Given the description of an element on the screen output the (x, y) to click on. 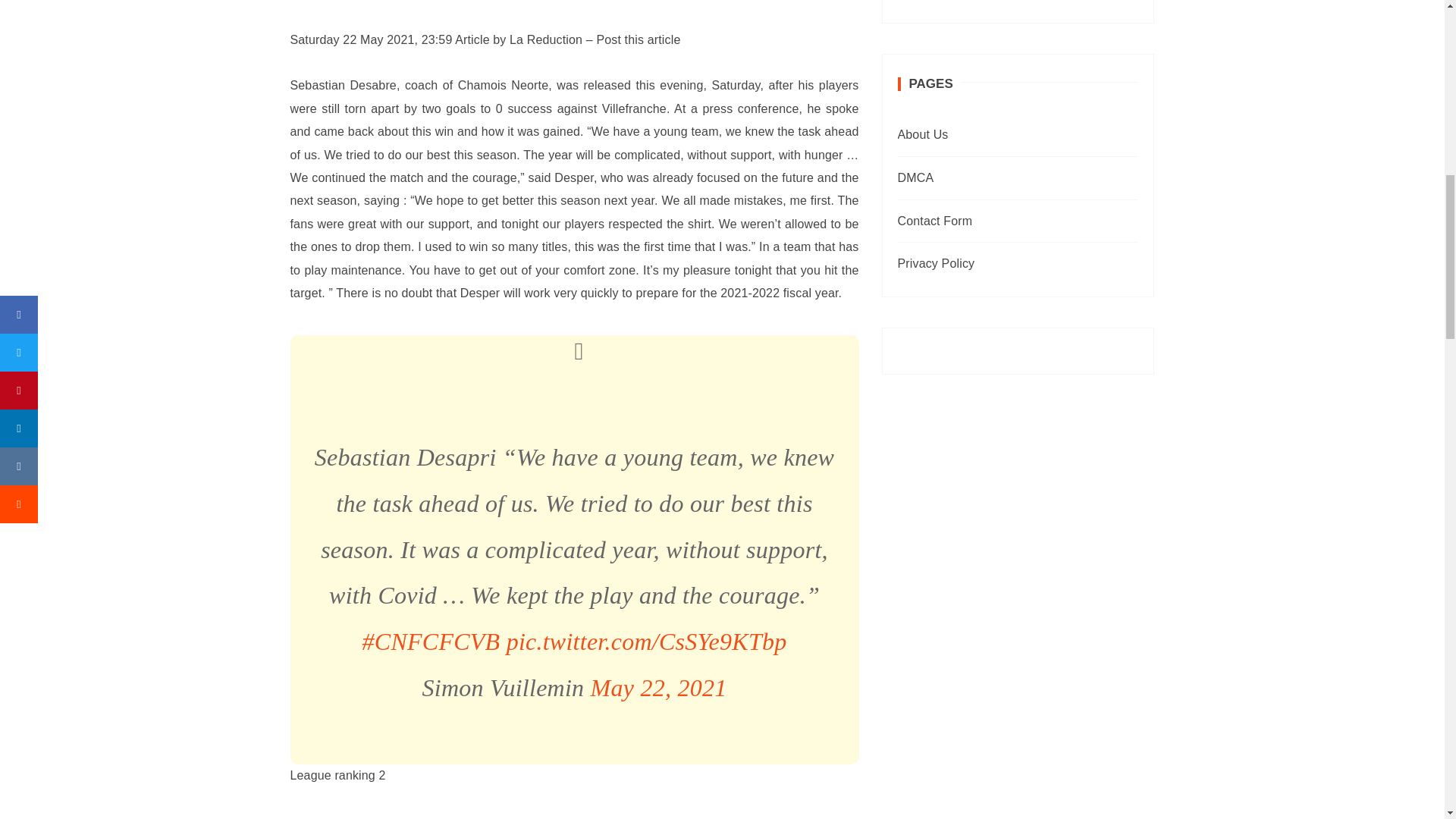
Post this article (637, 39)
May 22, 2021 (658, 687)
